Given the description of an element on the screen output the (x, y) to click on. 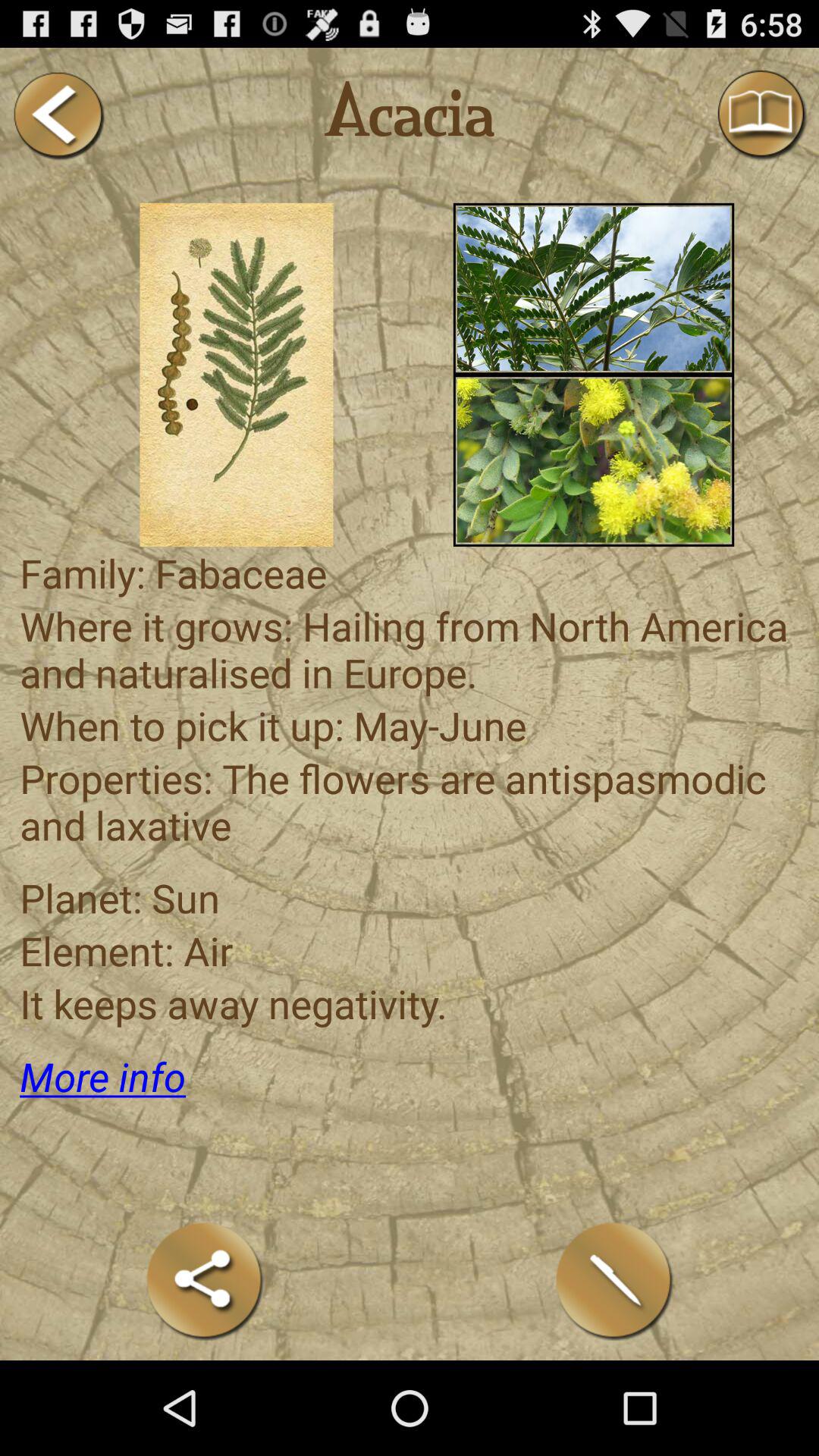
tree image (593, 288)
